Given the description of an element on the screen output the (x, y) to click on. 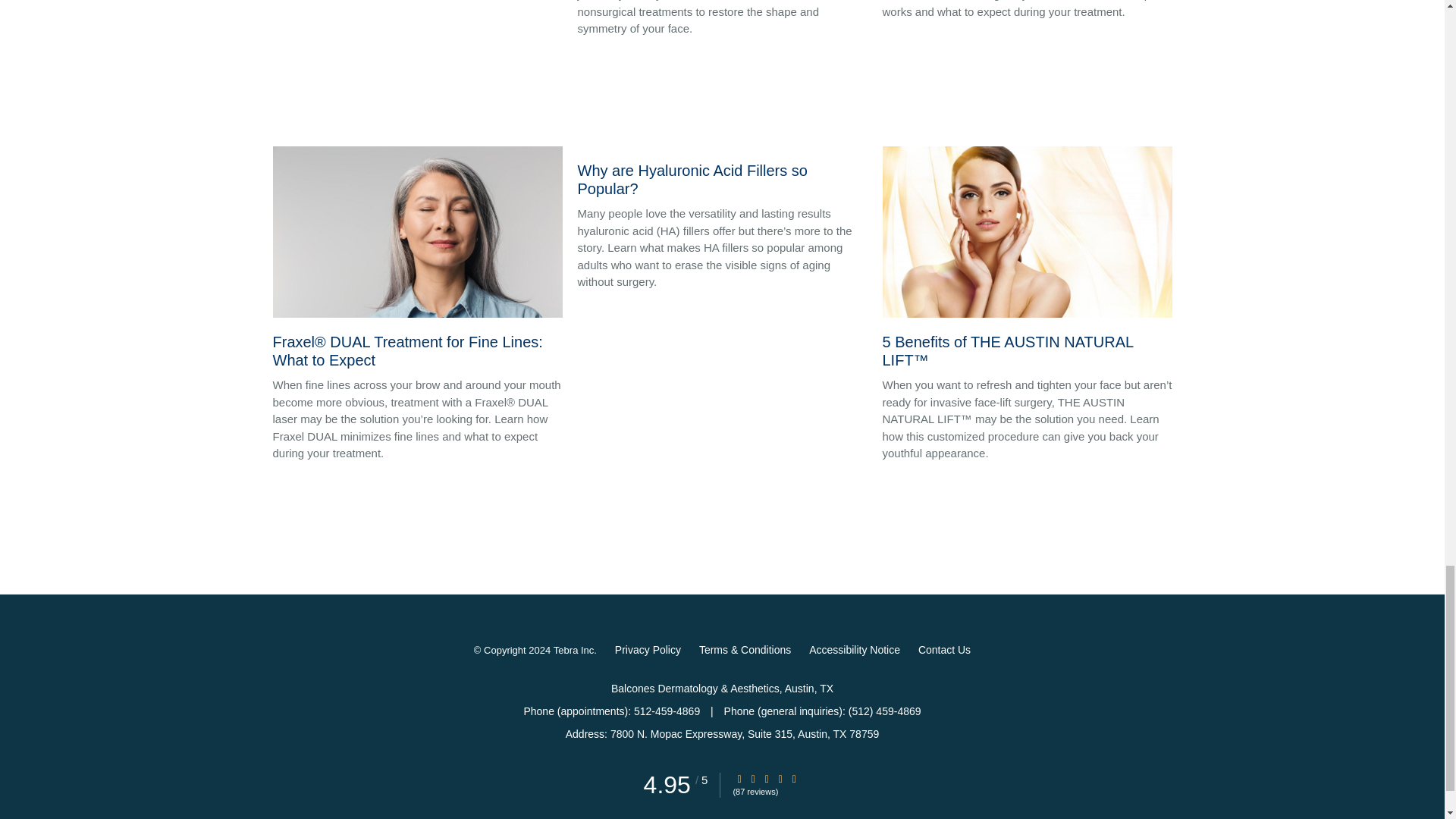
Star Rating (794, 778)
Star Rating (766, 778)
Star Rating (780, 778)
Star Rating (738, 778)
Star Rating (753, 778)
